Given the description of an element on the screen output the (x, y) to click on. 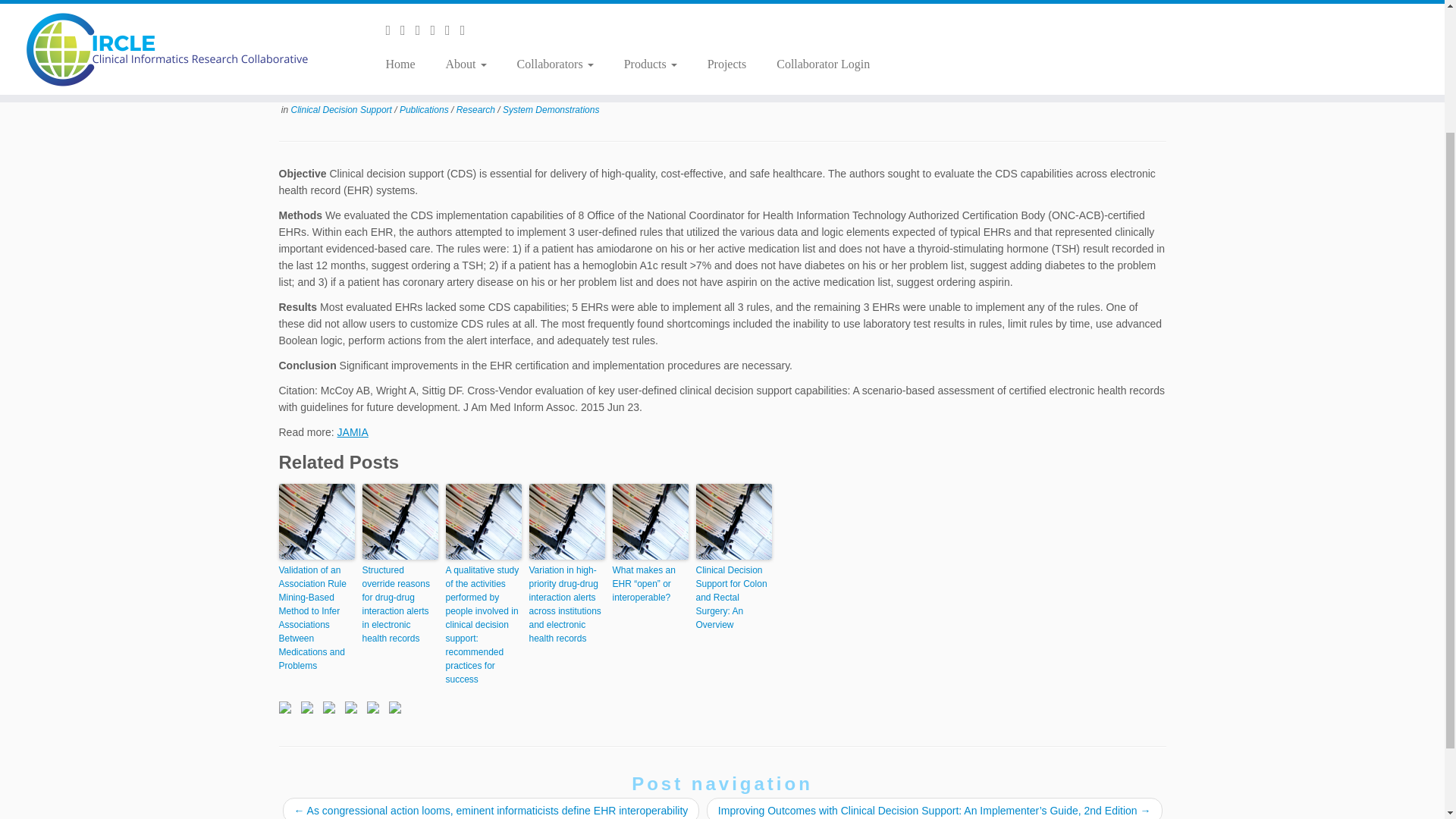
JAMIA (352, 431)
Clinical Decision Support (342, 109)
System Demonstrations (550, 109)
Research (477, 109)
View all posts in Publications (424, 109)
View all posts in Clinical Decision Support (342, 109)
View all posts in System Demonstrations (550, 109)
View all posts in Research (477, 109)
Publications (424, 109)
